Given the description of an element on the screen output the (x, y) to click on. 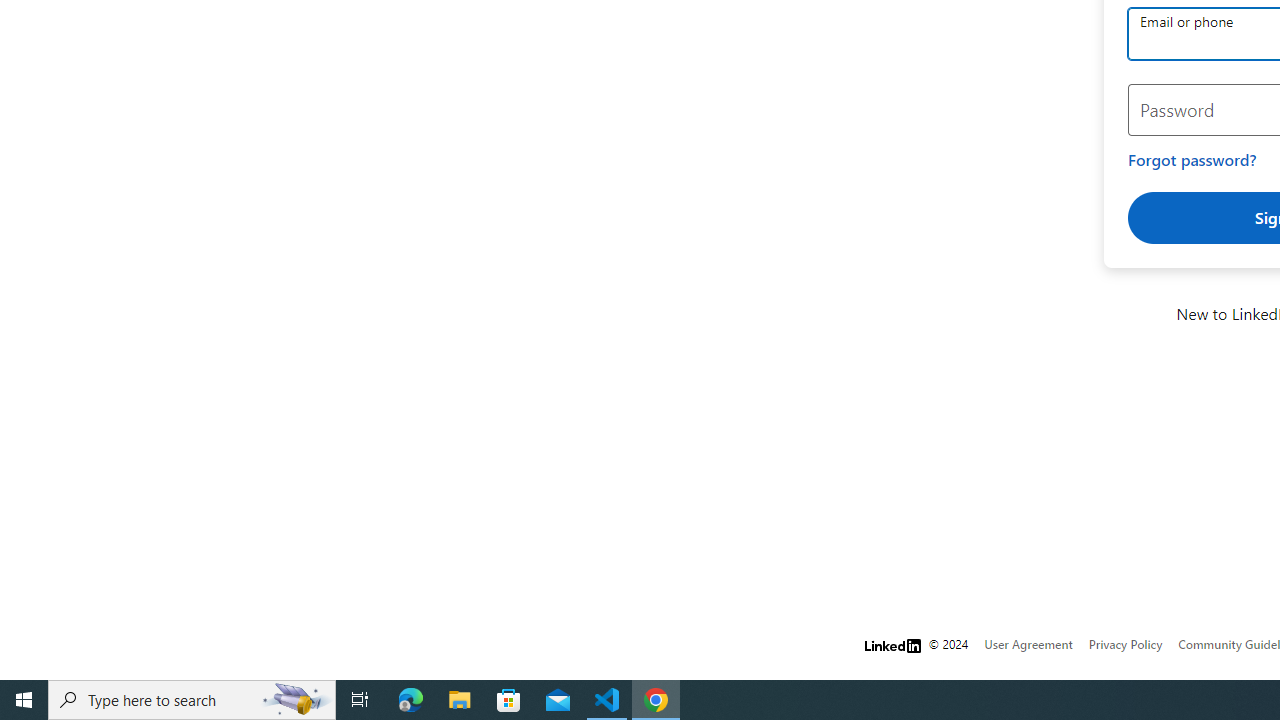
User Agreement (1028, 643)
Forgot password? (1192, 160)
